Given the description of an element on the screen output the (x, y) to click on. 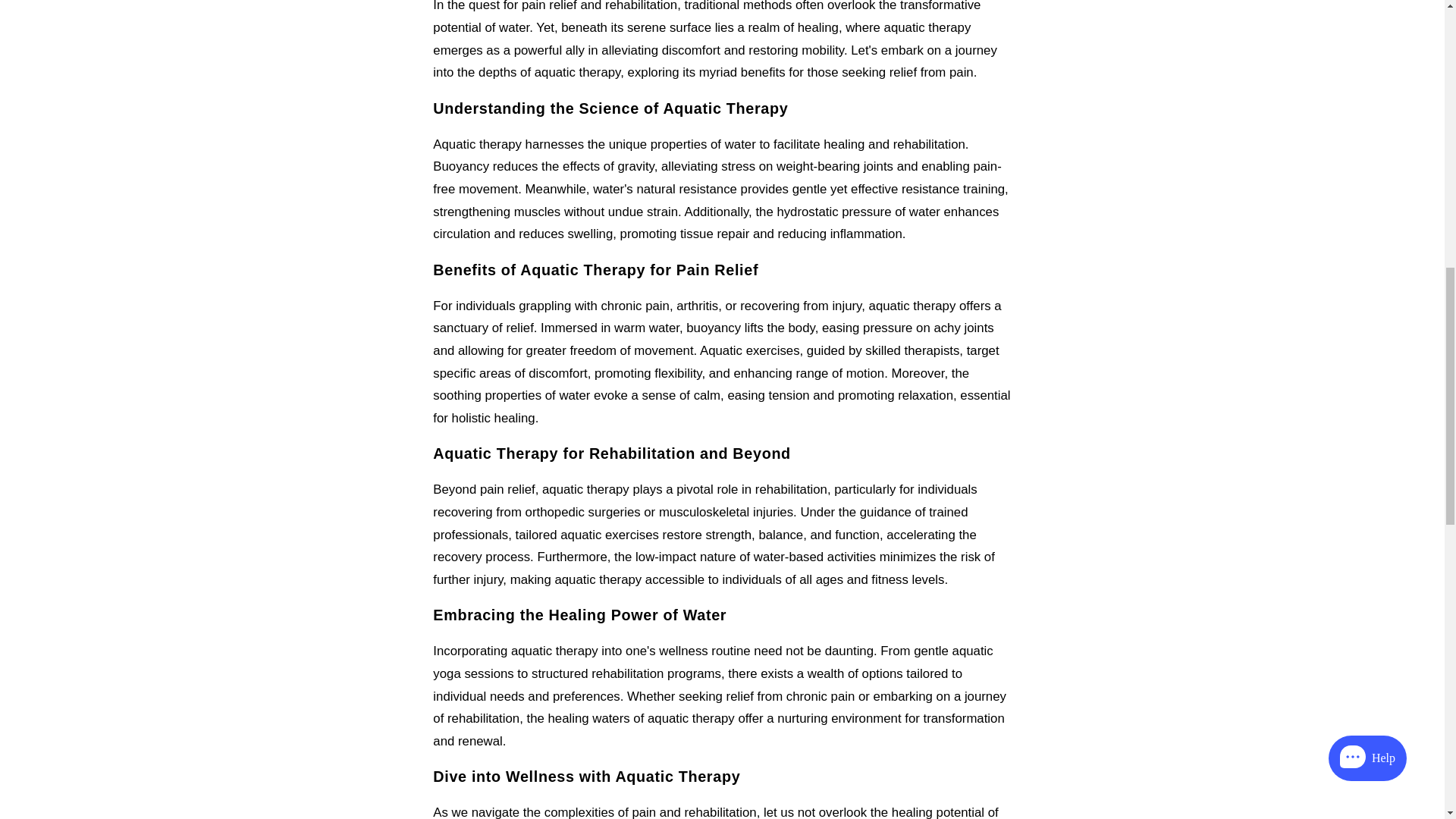
helpdesk-channel-iframe (1265, 155)
